Given the description of an element on the screen output the (x, y) to click on. 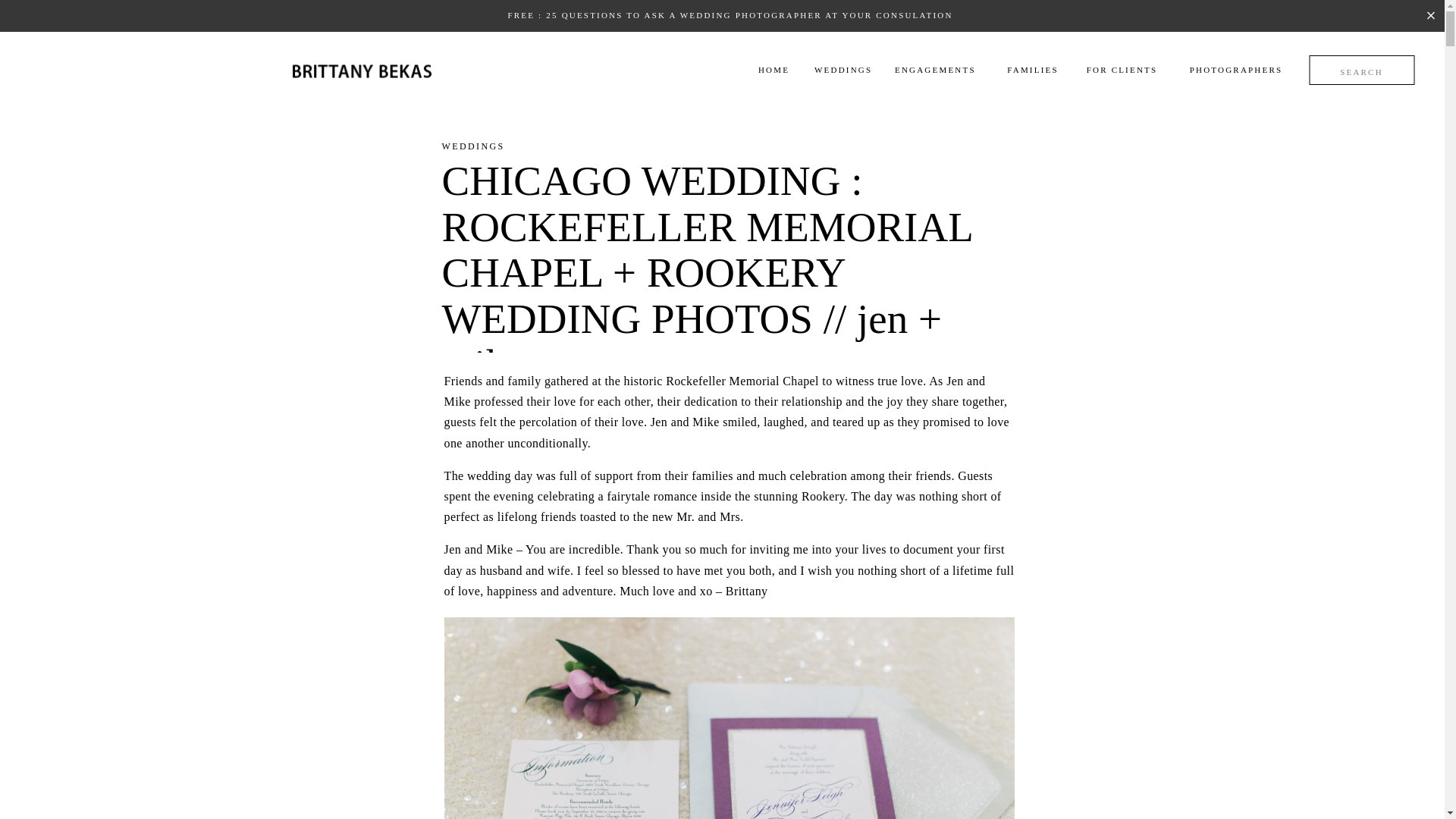
HOME (773, 72)
WEDDINGS (835, 72)
FAMILIES (1032, 72)
FOR CLIENTS (1121, 72)
WEDDINGS (472, 145)
PHOTOGRAPHERS (1235, 72)
ENGAGEMENTS (916, 72)
